Given the description of an element on the screen output the (x, y) to click on. 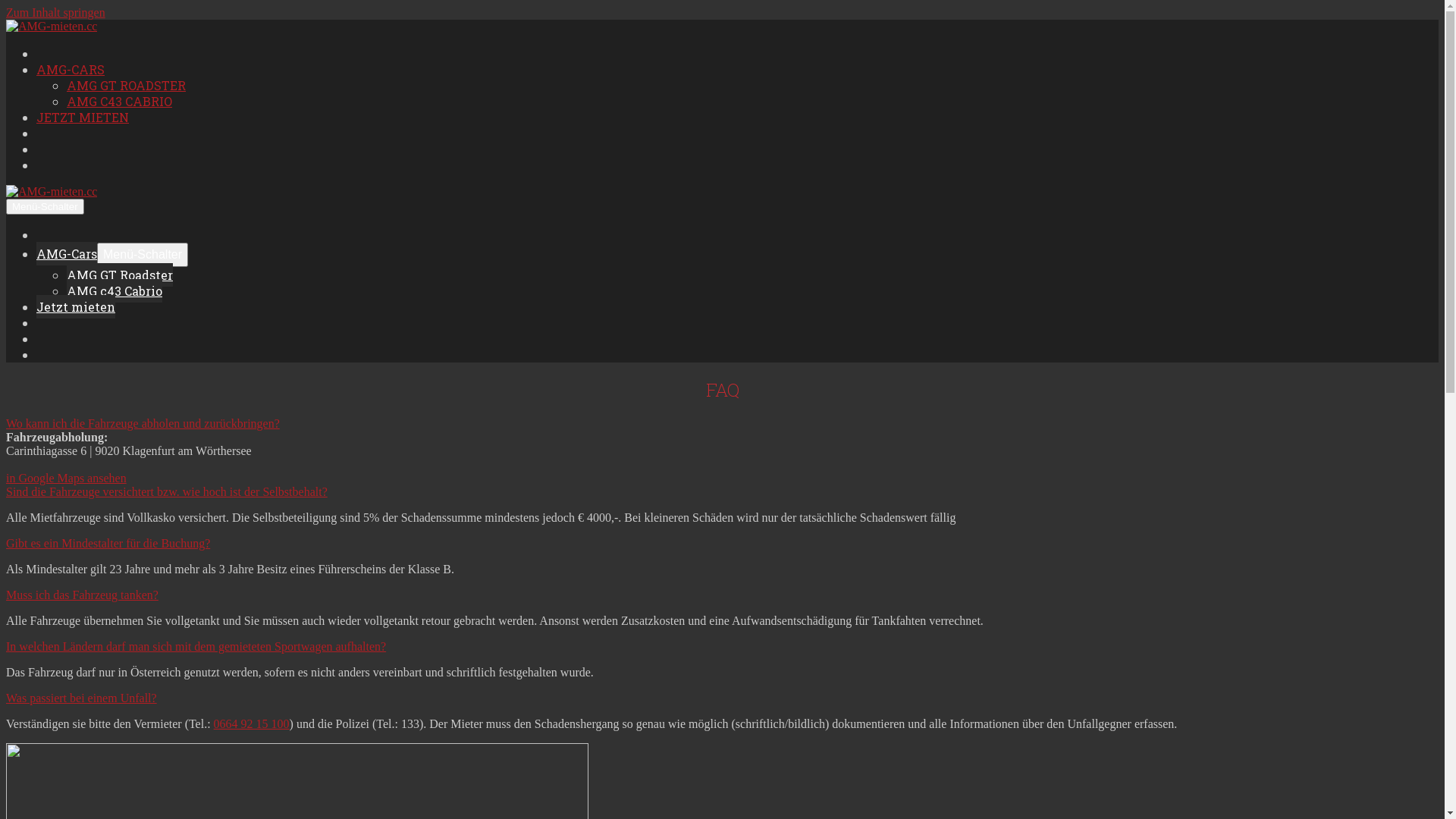
Zum Inhalt springen Element type: text (55, 12)
AMG c43 Cabrio Element type: text (114, 290)
AMG-Cars Element type: text (66, 253)
AMG-mieten.cc Element type: hover (51, 191)
Was passiert bei einem Unfall? Element type: text (81, 697)
Muss ich das Fahrzeug tanken? Element type: text (82, 594)
JETZT MIETEN Element type: text (82, 117)
AMG-mieten.cc Element type: hover (51, 26)
AMG-CARS Element type: text (70, 69)
0664 92 15 100 Element type: text (251, 723)
AMG GT Roadster Element type: text (119, 274)
AMG GT ROADSTER Element type: text (125, 85)
in Google Maps ansehen Element type: text (66, 477)
AMG C43 CABRIO Element type: text (119, 101)
Jetzt mieten Element type: text (75, 306)
